Given the description of an element on the screen output the (x, y) to click on. 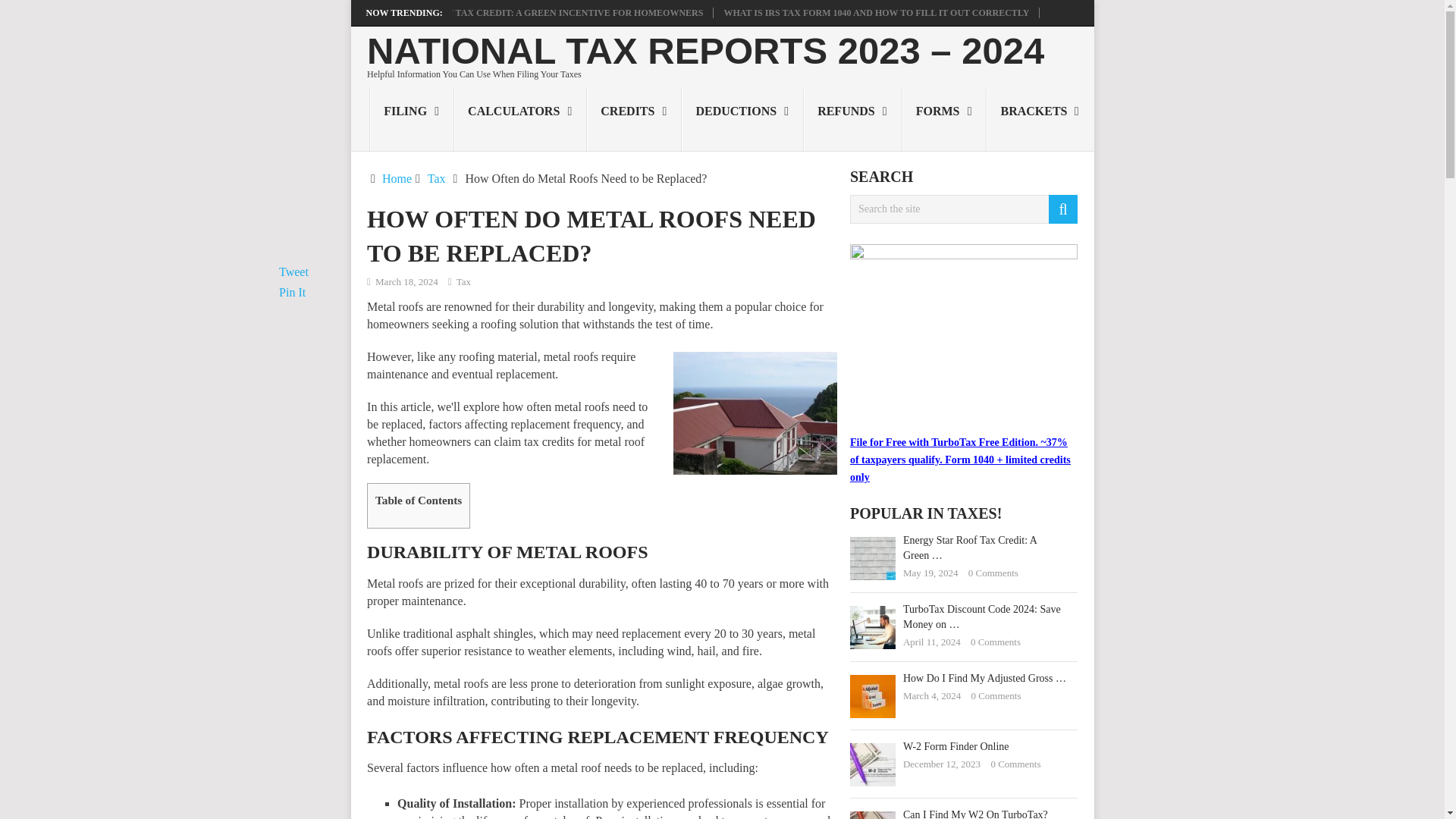
FILING (411, 119)
CALCULATORS (520, 119)
CREDITS (633, 119)
DEDUCTIONS (742, 119)
WHAT IS IRS TAX FORM 1040 AND HOW TO FILL IT OUT CORRECTLY (876, 12)
What is IRS Tax Form 1040 and How to Fill It Out Correctly (876, 12)
View all posts in Tax (463, 281)
